Given the description of an element on the screen output the (x, y) to click on. 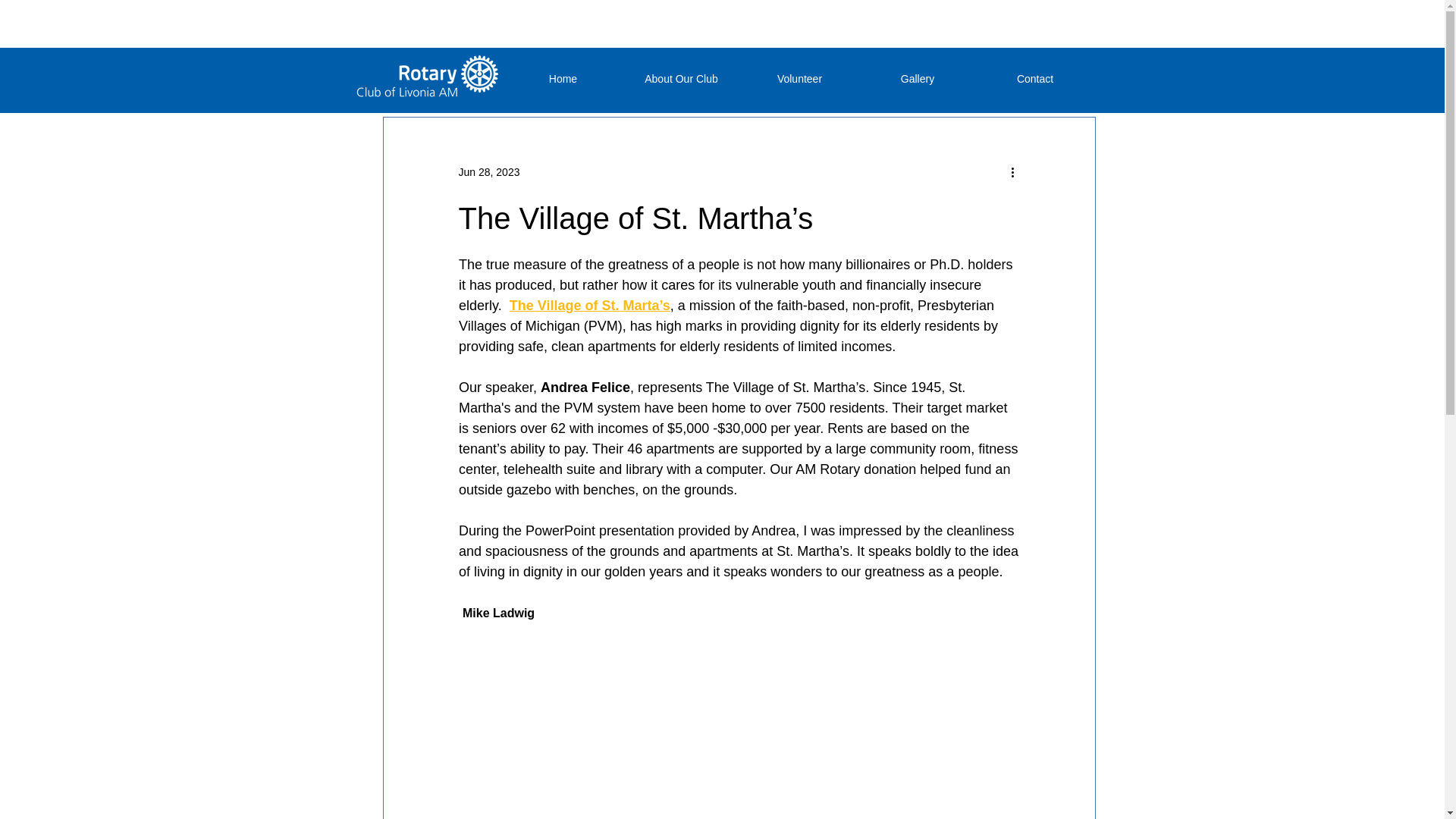
Jun 28, 2023 (488, 171)
About Our Club (680, 78)
Volunteer (799, 78)
Home (562, 78)
Gallery (917, 78)
Contact (1035, 78)
